Given the description of an element on the screen output the (x, y) to click on. 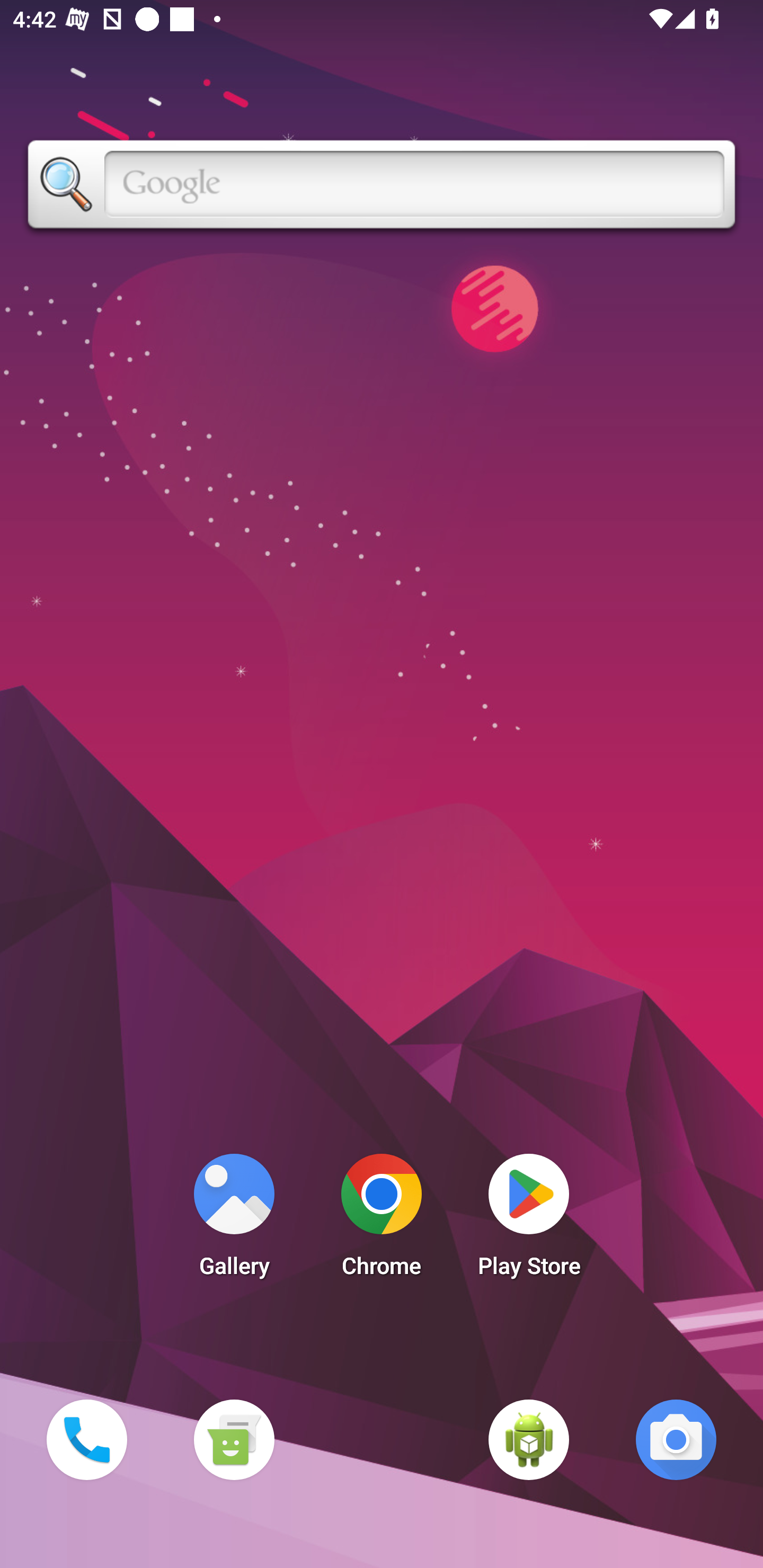
Gallery (233, 1220)
Chrome (381, 1220)
Play Store (528, 1220)
Phone (86, 1439)
Messaging (233, 1439)
WebView Browser Tester (528, 1439)
Camera (676, 1439)
